Given the description of an element on the screen output the (x, y) to click on. 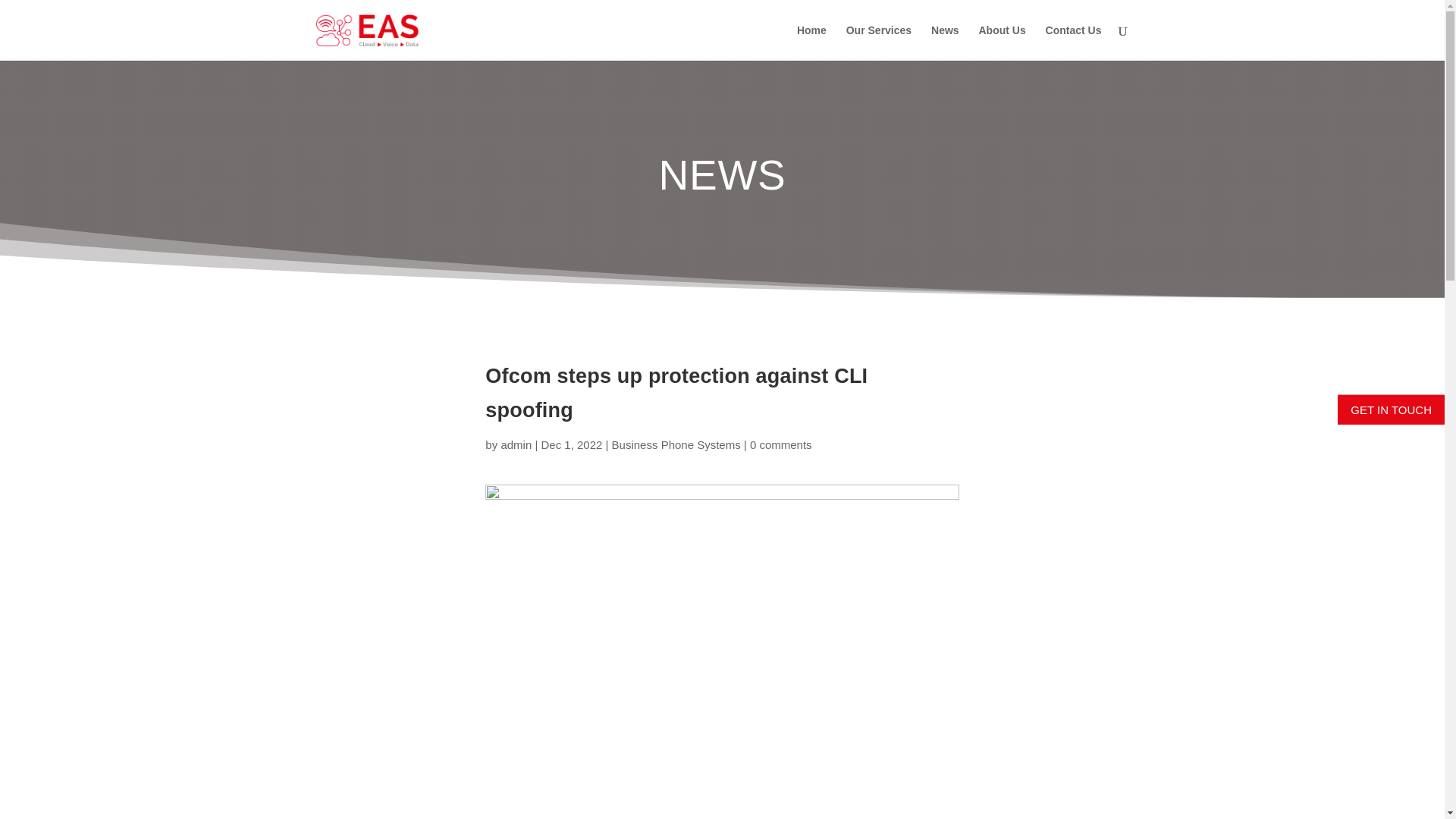
Contact Us (1073, 42)
0 comments (780, 444)
Our Services (878, 42)
Posts by admin (515, 444)
admin (515, 444)
Business Phone Systems (676, 444)
About Us (1001, 42)
